Given the description of an element on the screen output the (x, y) to click on. 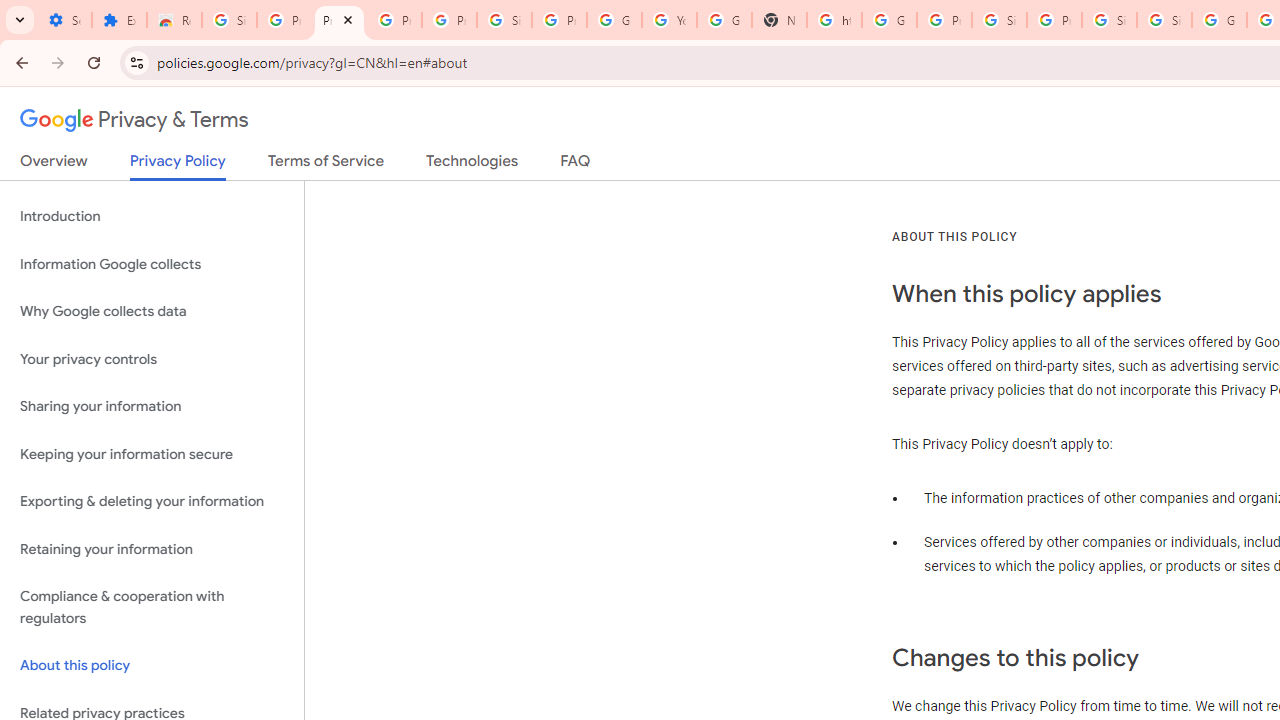
Exporting & deleting your information (152, 502)
Sign in - Google Accounts (229, 20)
Your privacy controls (152, 358)
https://scholar.google.com/ (833, 20)
Keeping your information secure (152, 453)
Extensions (119, 20)
